Given the description of an element on the screen output the (x, y) to click on. 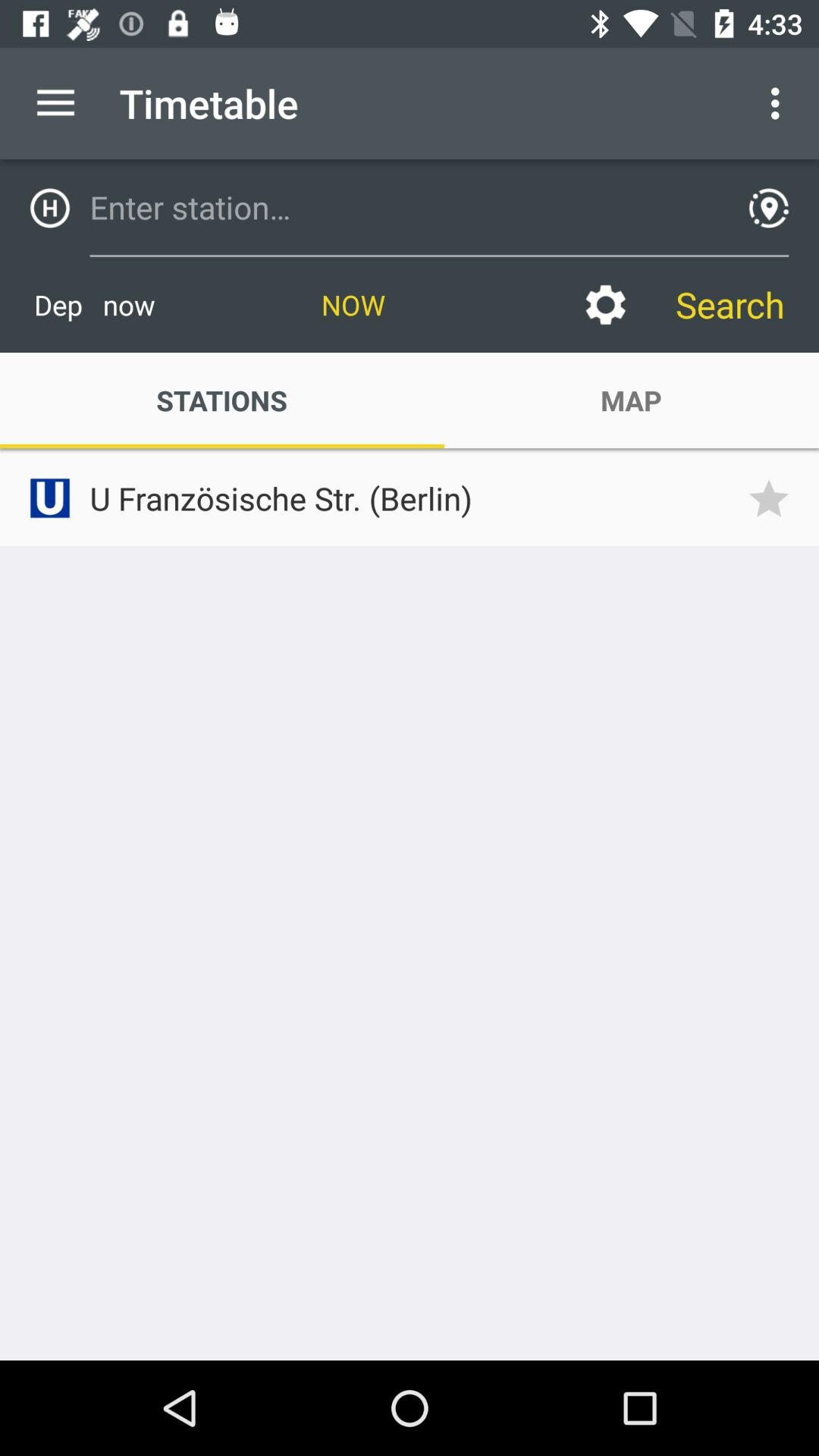
choose the icon to the left of the now icon (94, 304)
